Given the description of an element on the screen output the (x, y) to click on. 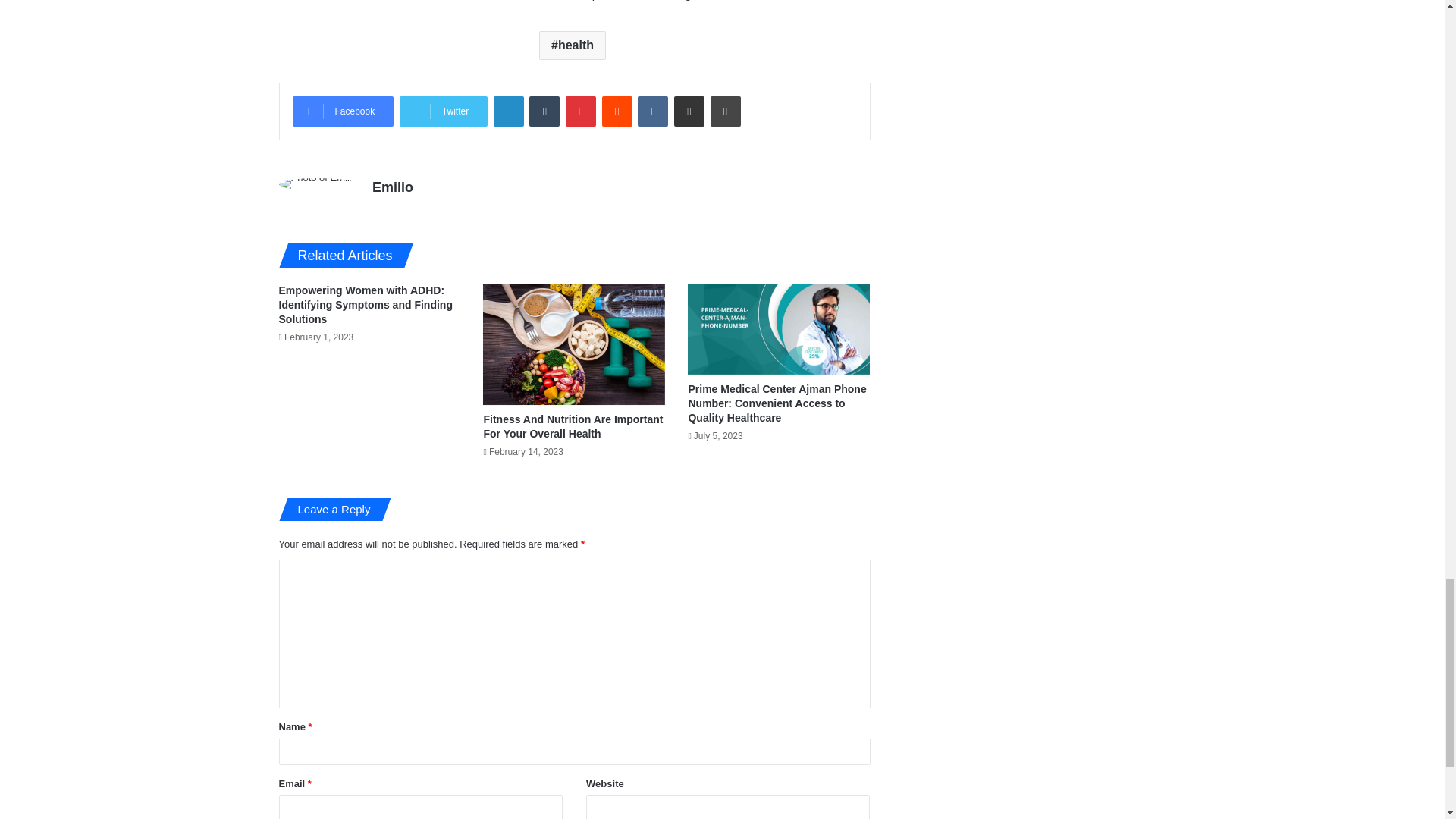
Print (725, 111)
Reddit (616, 111)
Share via Email (689, 111)
LinkedIn (508, 111)
VKontakte (652, 111)
VKontakte (652, 111)
health (571, 45)
Share via Email (689, 111)
Print (725, 111)
